Given the description of an element on the screen output the (x, y) to click on. 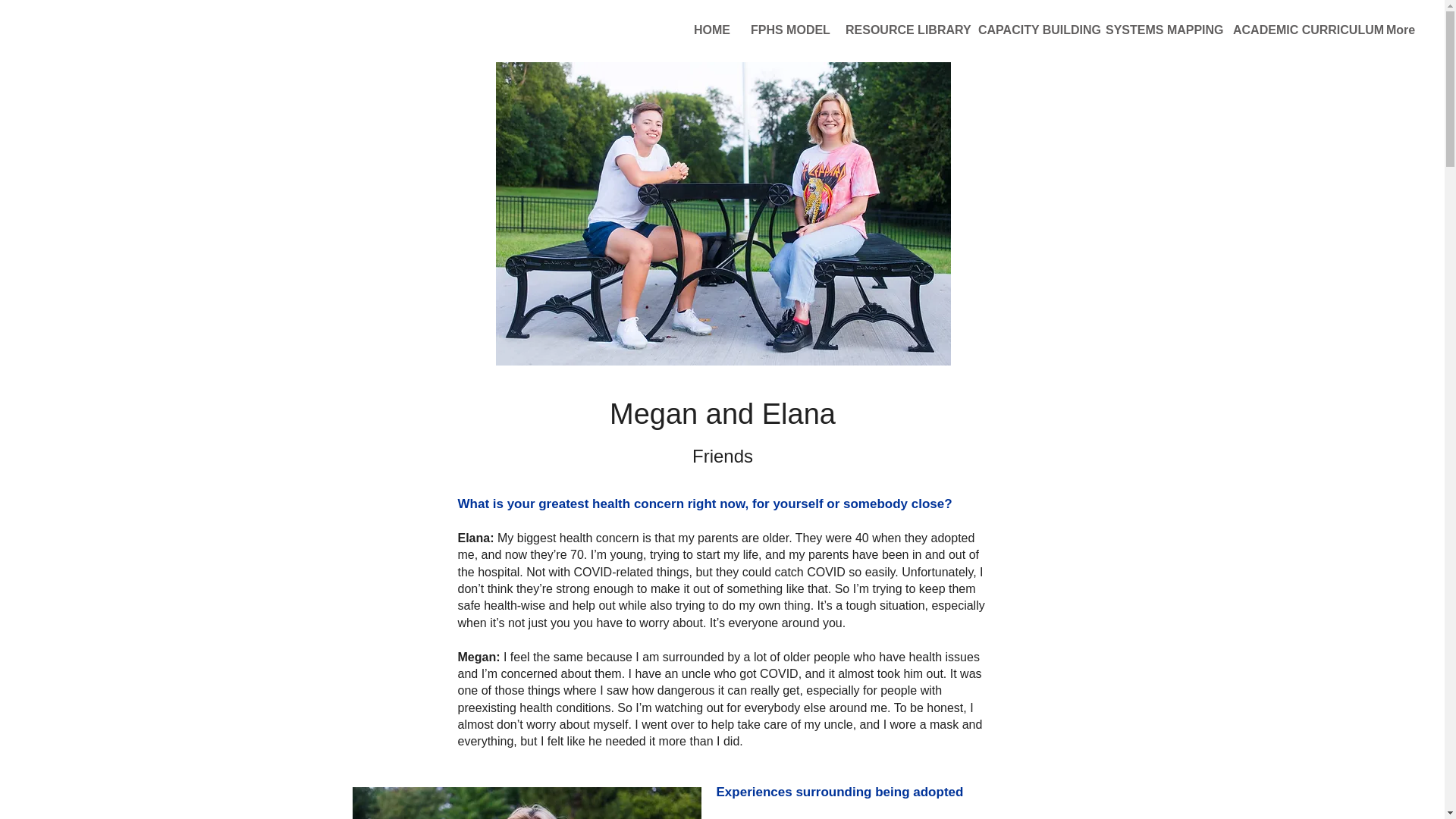
SYSTEMS MAPPING (1157, 34)
RESOURCE LIBRARY (900, 34)
CAPACITY BUILDING (1030, 34)
HOME (710, 34)
ACADEMIC CURRICULUM (1297, 34)
FPHS MODEL (786, 34)
